Given the description of an element on the screen output the (x, y) to click on. 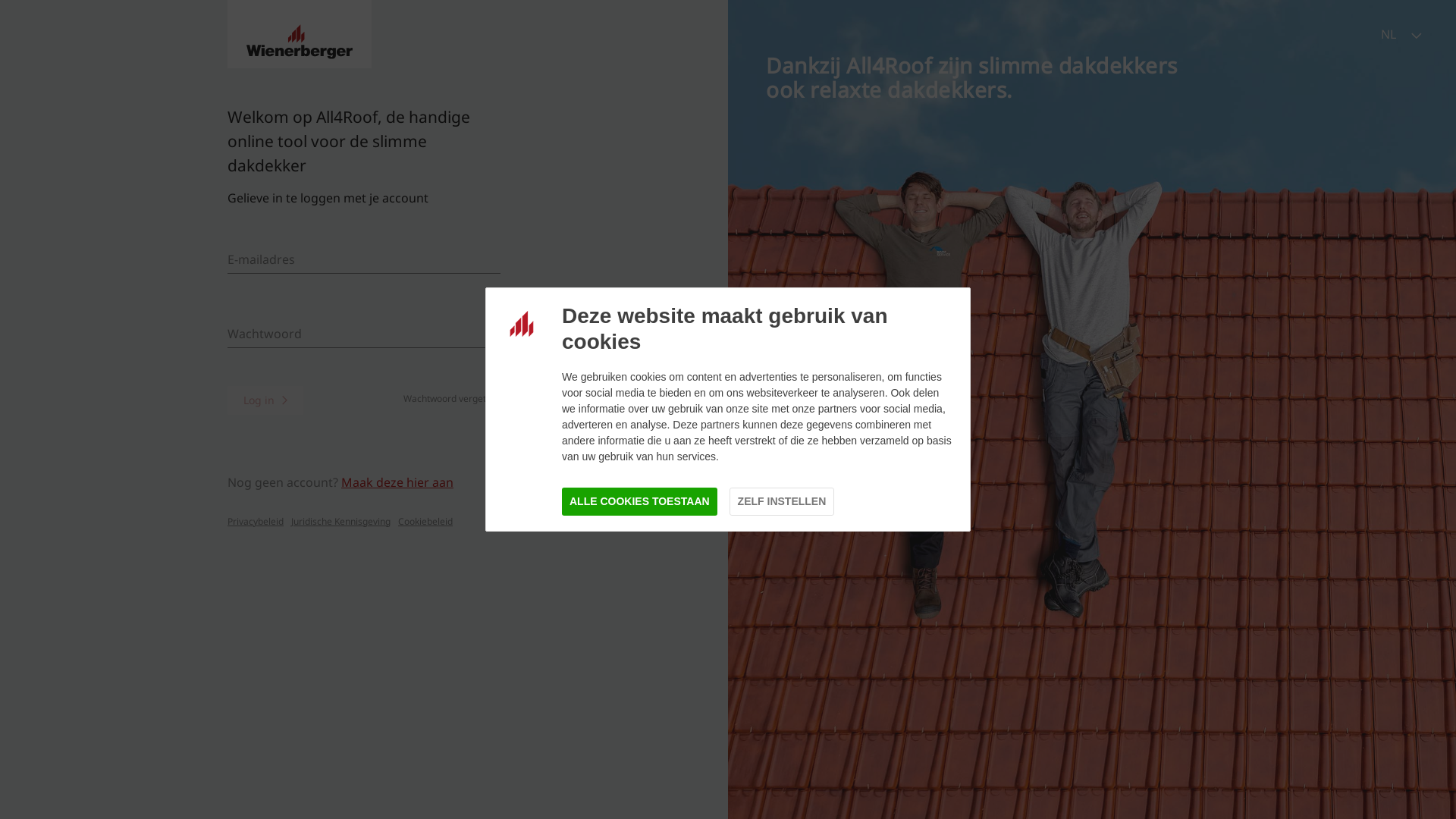
Juridische Kennisgeving Element type: text (336, 521)
ALLE COOKIES TOESTAAN Element type: text (639, 501)
Privacybeleid Element type: text (255, 521)
ZELF INSTELLEN Element type: text (781, 501)
Cookiebeleid Element type: text (421, 521)
Log in Element type: text (265, 399)
Maak deze hier aan Element type: text (397, 481)
Wachtwoord vergeten? Element type: text (451, 398)
